Given the description of an element on the screen output the (x, y) to click on. 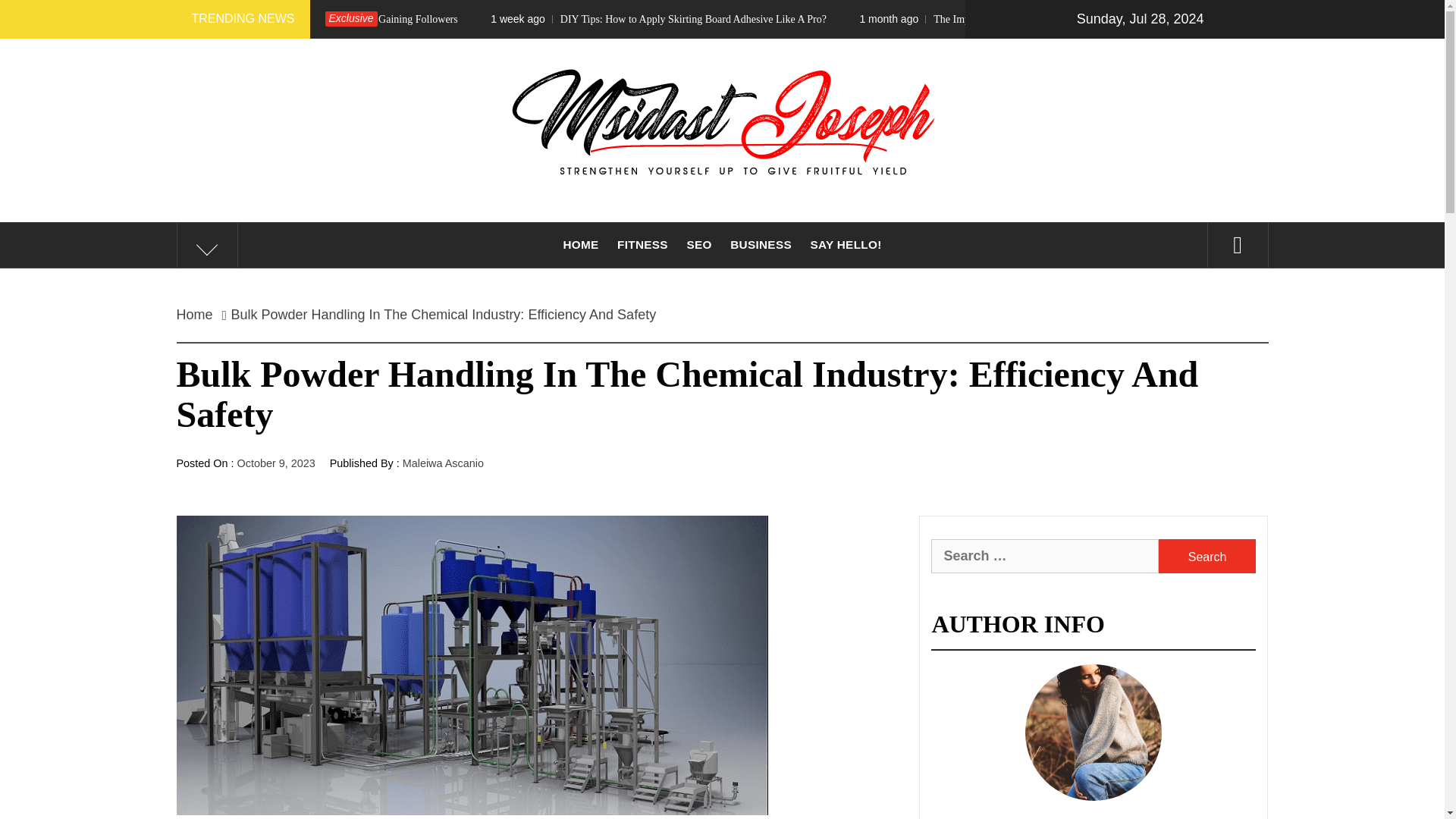
SAY HELLO! (845, 244)
FITNESS (642, 244)
HOME (579, 244)
Search (1206, 555)
BUSINESS (760, 244)
MSIDAST JOSEPH (721, 240)
Search (1206, 555)
